Given the description of an element on the screen output the (x, y) to click on. 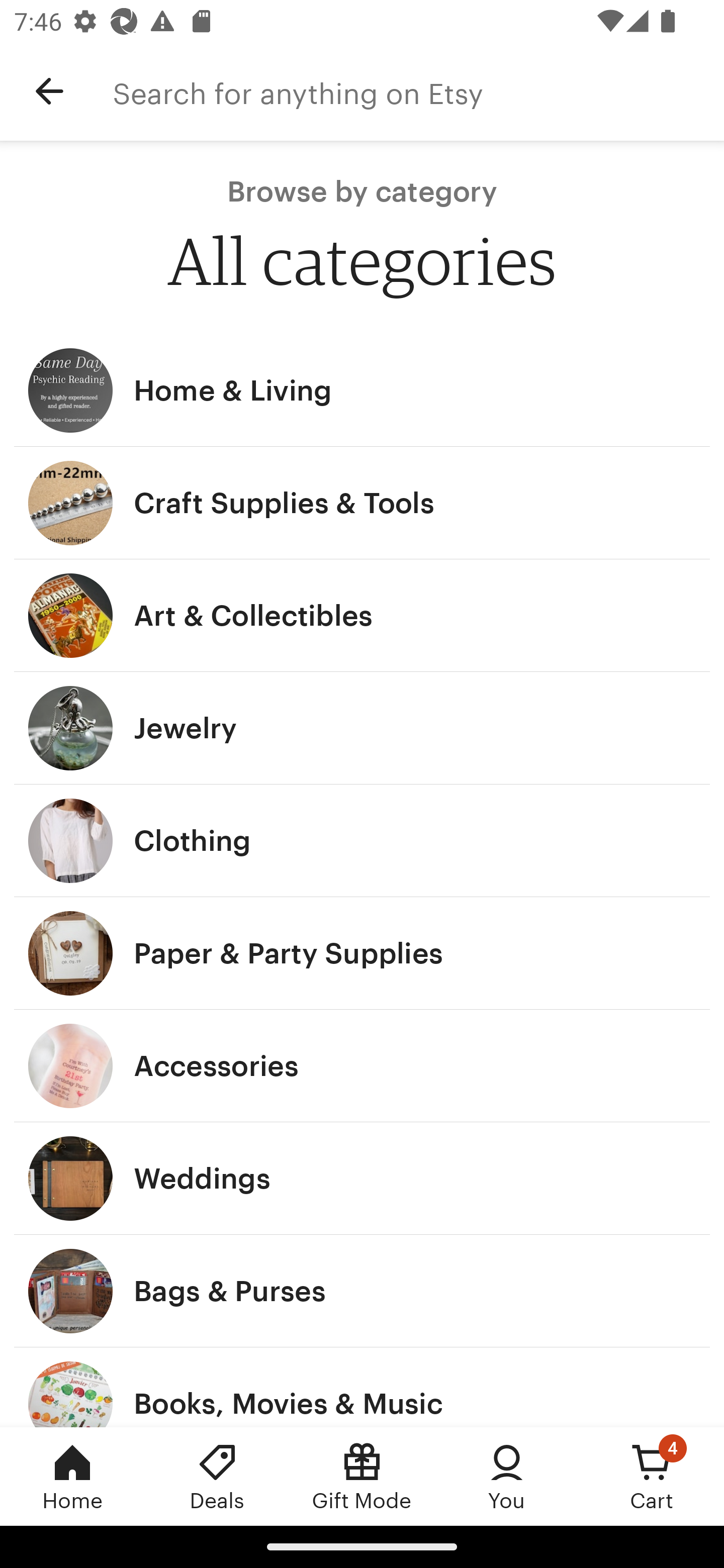
Navigate up (49, 91)
Search for anything on Etsy (418, 91)
Home & Living (361, 389)
Craft Supplies & Tools (361, 502)
Art & Collectibles (361, 615)
Jewelry (361, 728)
Clothing (361, 840)
Paper & Party Supplies (361, 952)
Accessories (361, 1065)
Weddings (361, 1178)
Bags & Purses (361, 1290)
Books, Movies & Music (361, 1386)
Deals (216, 1475)
Gift Mode (361, 1475)
You (506, 1475)
Cart, 4 new notifications Cart (651, 1475)
